Given the description of an element on the screen output the (x, y) to click on. 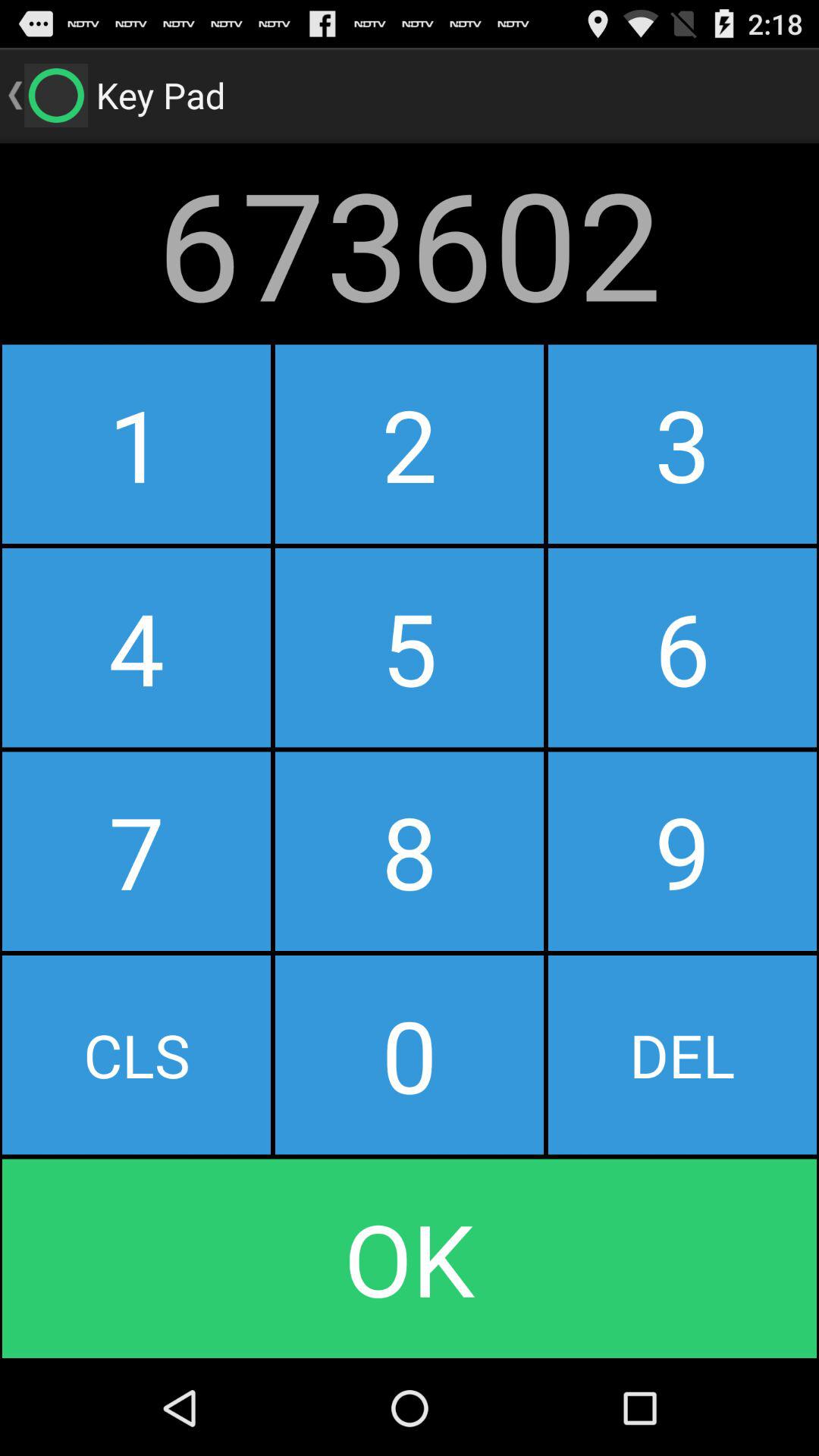
select 6 item (682, 647)
